Given the description of an element on the screen output the (x, y) to click on. 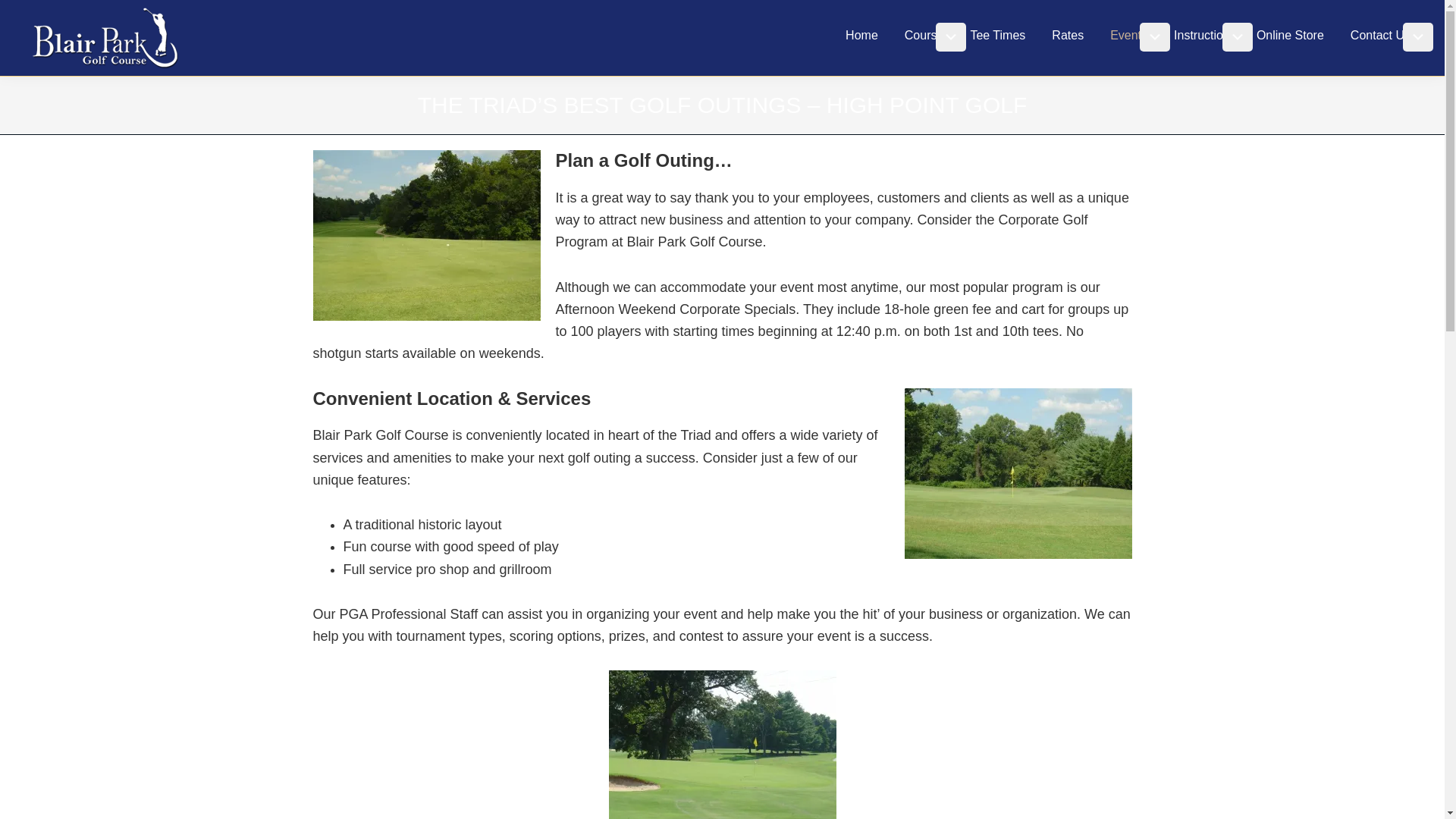
Submenu (1417, 36)
Rates (1067, 34)
Contact Us (1380, 34)
Submenu (951, 36)
Instruction (1201, 34)
Home (861, 34)
Submenu (1237, 36)
Online Store (1289, 34)
Events (1128, 34)
Course (924, 34)
